Given the description of an element on the screen output the (x, y) to click on. 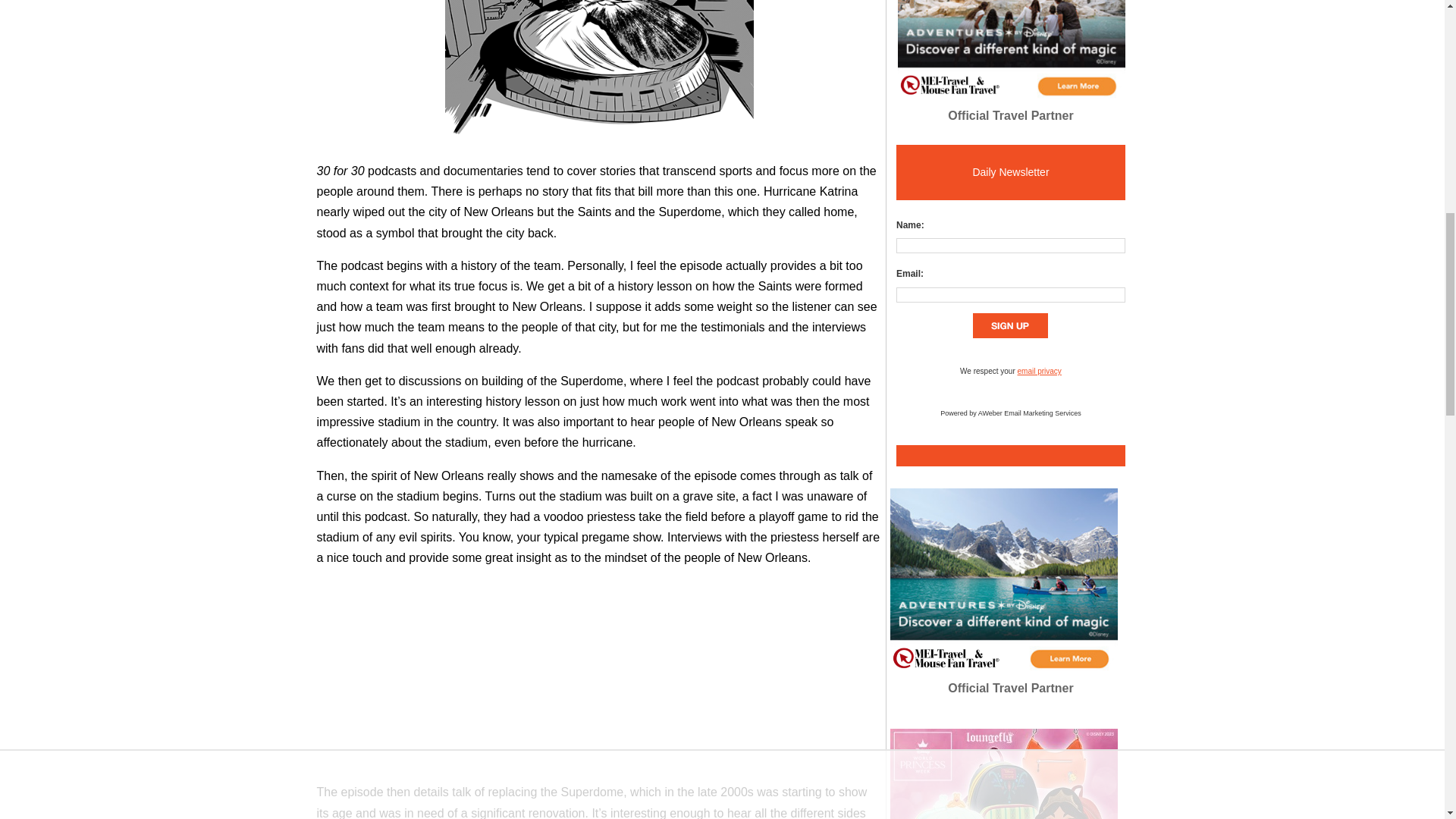
Privacy Policy (1039, 370)
